Given the description of an element on the screen output the (x, y) to click on. 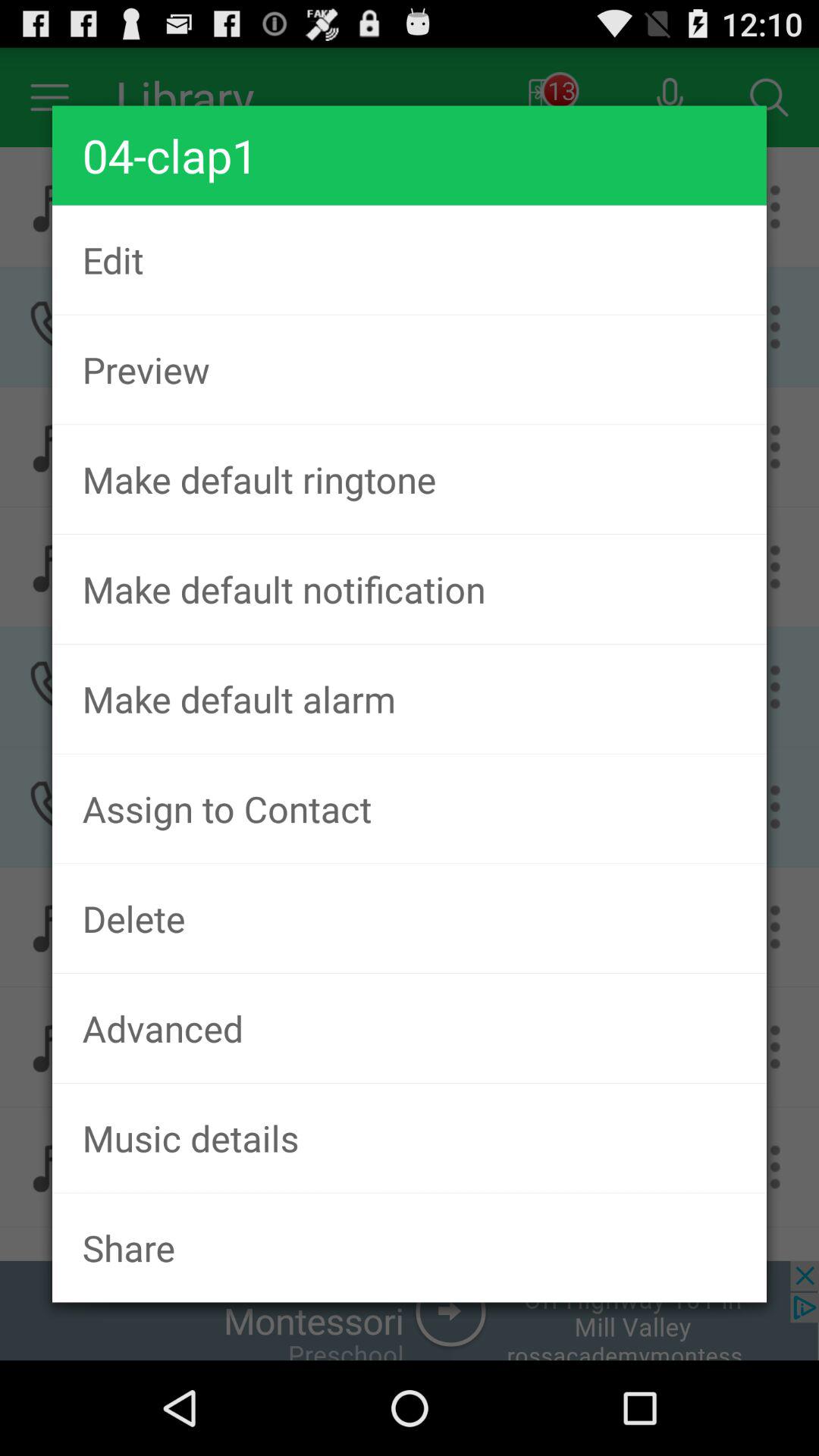
turn off app below assign to contact app (409, 918)
